Given the description of an element on the screen output the (x, y) to click on. 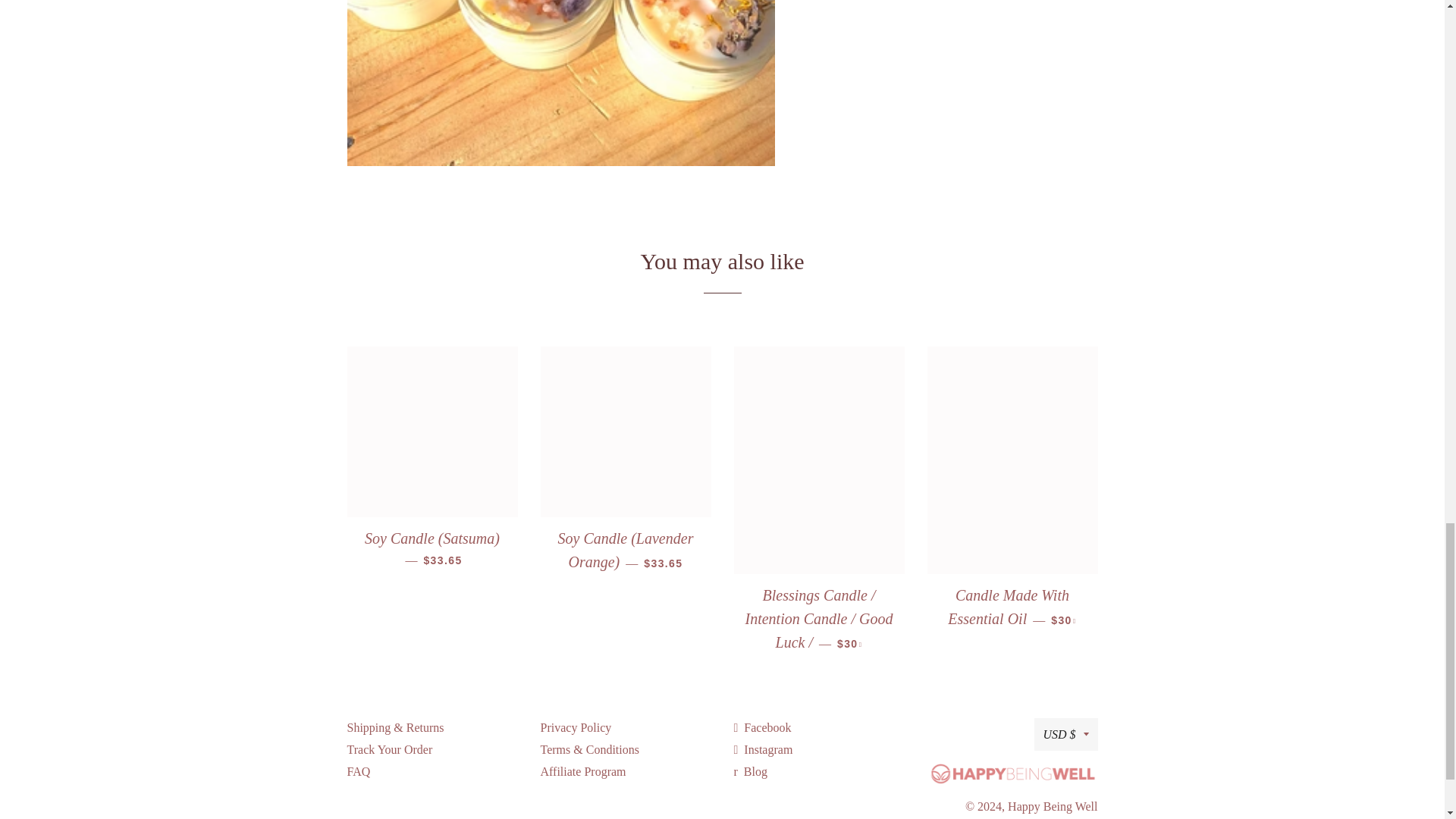
Happy Being Well on Instagram (763, 748)
Happy Being Well on Blog (750, 770)
Happy Being Well on Facebook (762, 726)
